Given the description of an element on the screen output the (x, y) to click on. 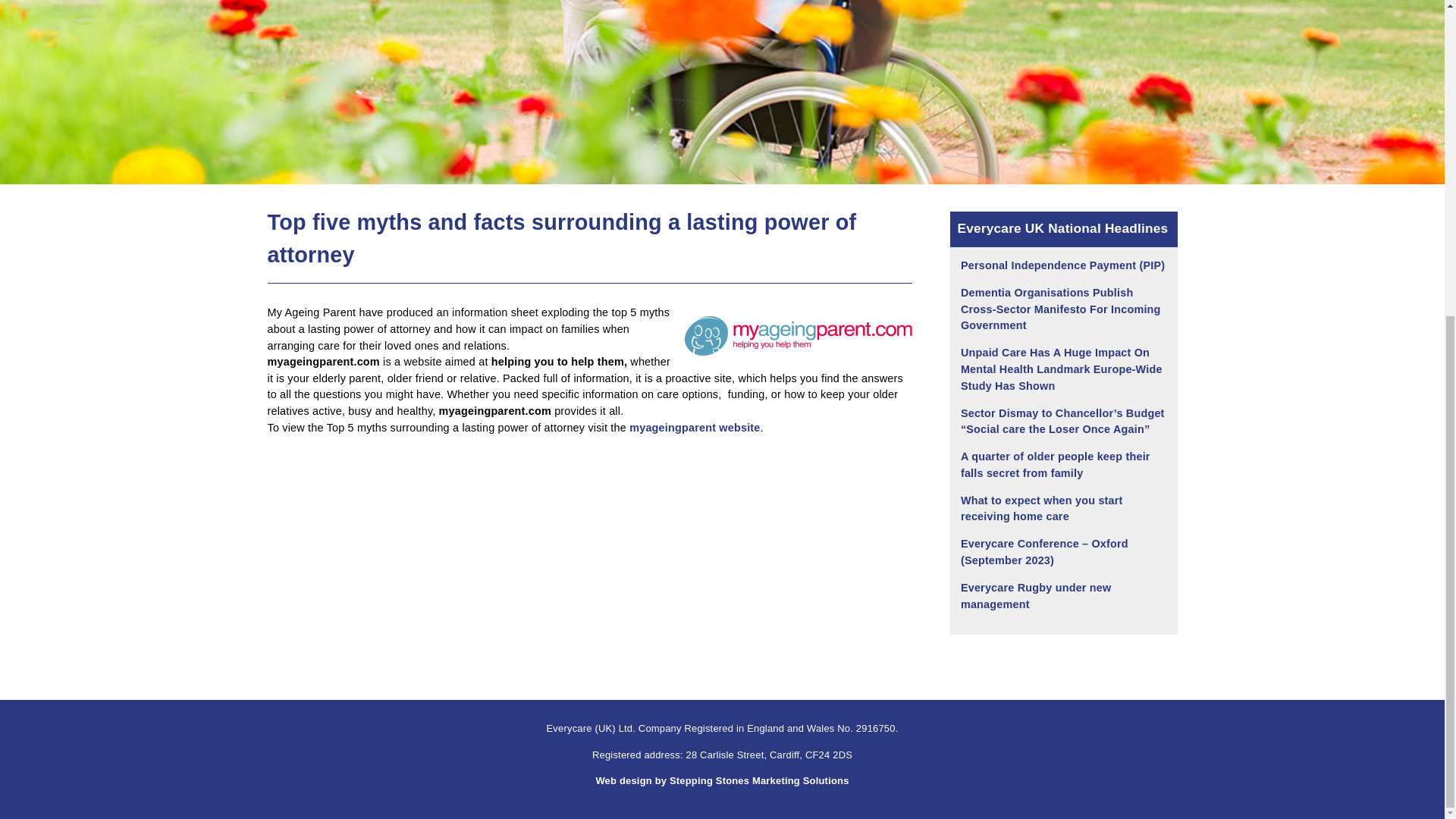
Everycare Rugby under new management (1036, 595)
myageingparent website (694, 427)
Web Designers (721, 780)
Web design by Stepping Stones Marketing Solutions (721, 780)
What to expect when you start receiving home care (1041, 508)
